Given the description of an element on the screen output the (x, y) to click on. 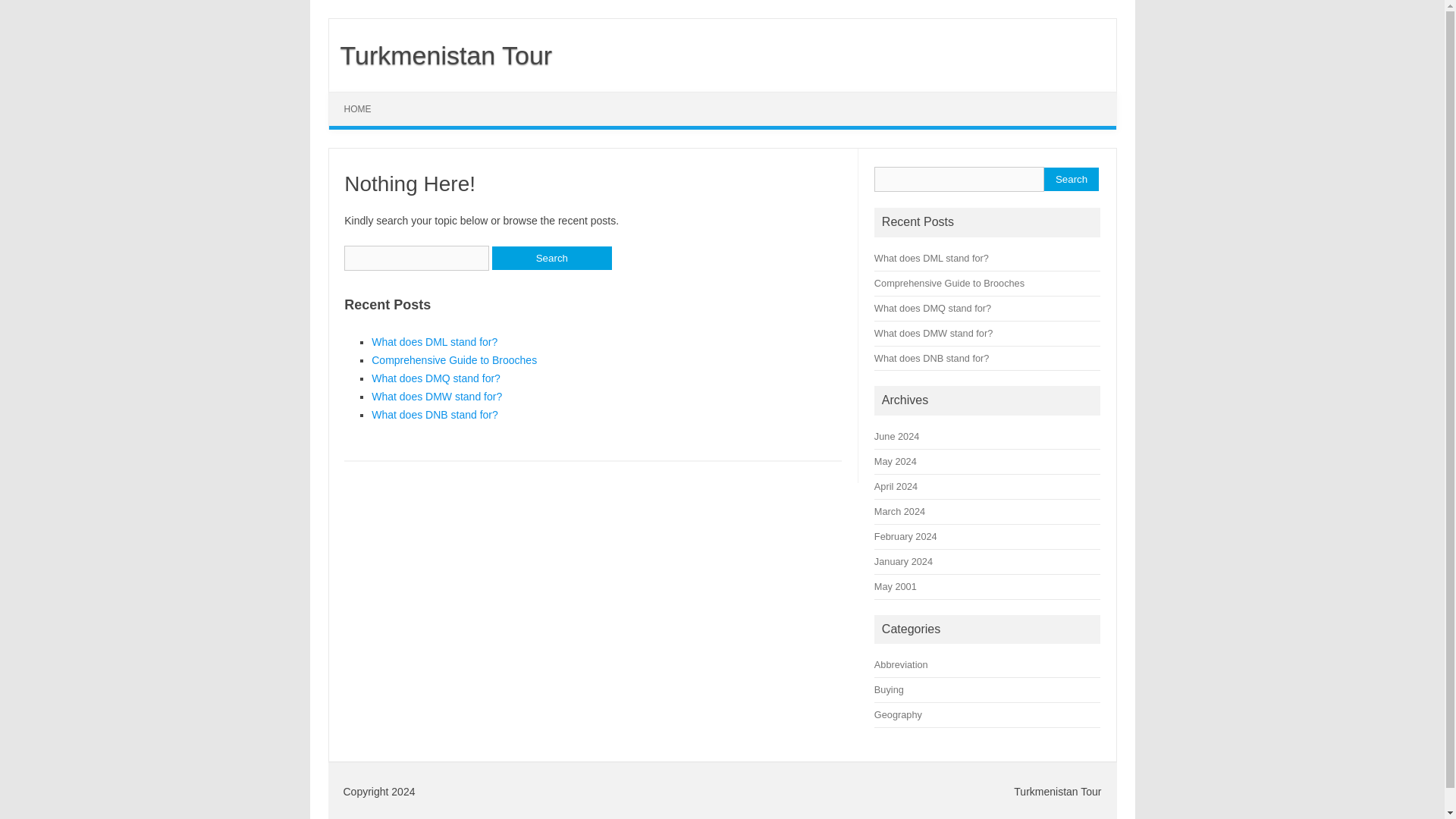
What does DMQ stand for? (933, 307)
January 2024 (904, 561)
Buying (889, 689)
Turkmenistan Tour (441, 54)
Skip to content (363, 96)
Comprehensive Guide to Brooches (950, 283)
March 2024 (899, 511)
Search (1070, 178)
Geography (898, 714)
What does DNB stand for? (931, 357)
Turkmenistan Tour (441, 54)
June 2024 (896, 436)
What does DMW stand for? (436, 396)
May 2001 (896, 586)
HOME (358, 109)
